Given the description of an element on the screen output the (x, y) to click on. 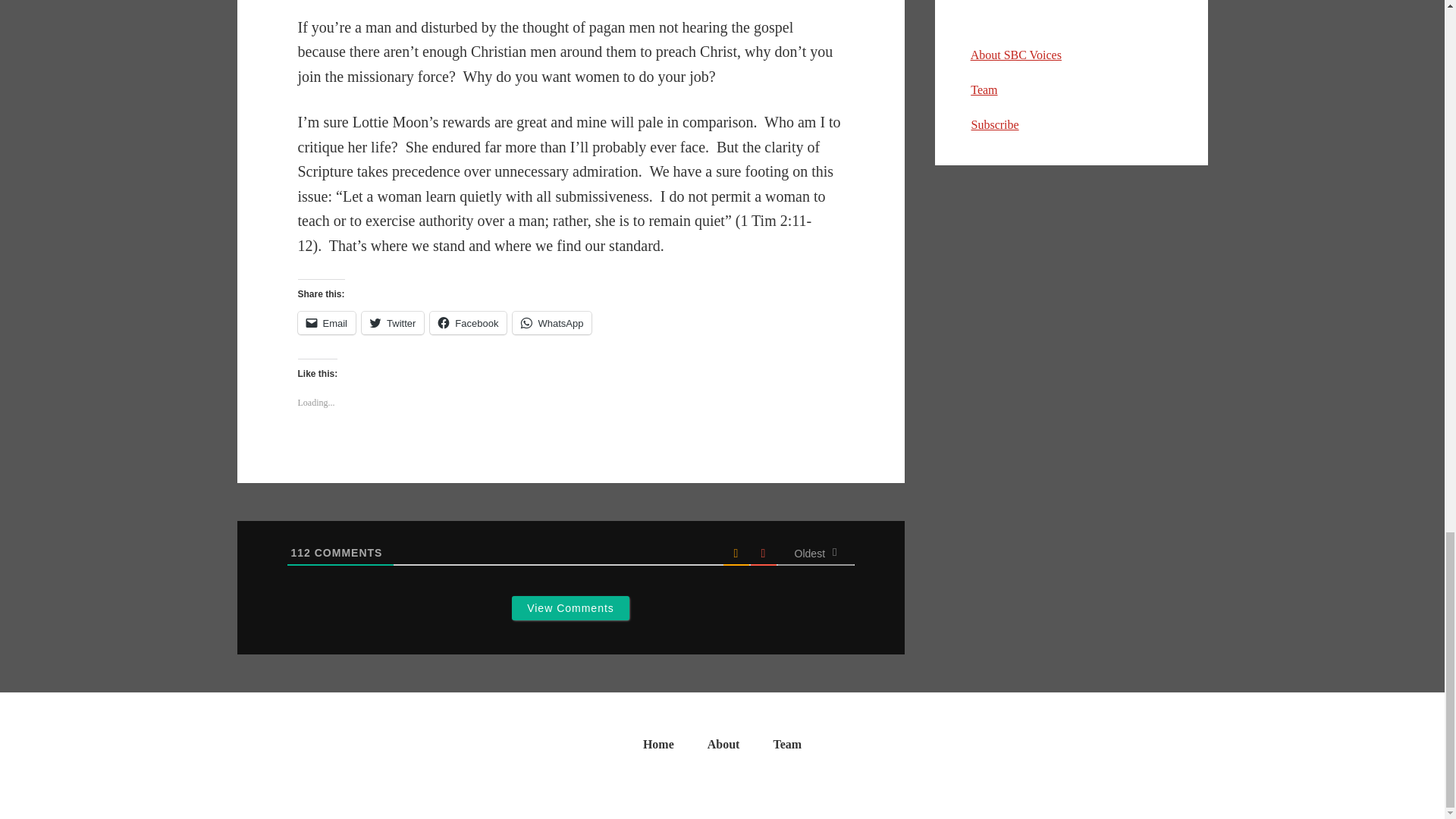
Facebook (467, 323)
Email (326, 323)
112 (301, 552)
Click to share on Facebook (467, 323)
View Comments (570, 607)
Subscribe (994, 124)
About SBC Voices (1016, 54)
About (724, 748)
Team (984, 89)
Click to email a link to a friend (326, 323)
